Given the description of an element on the screen output the (x, y) to click on. 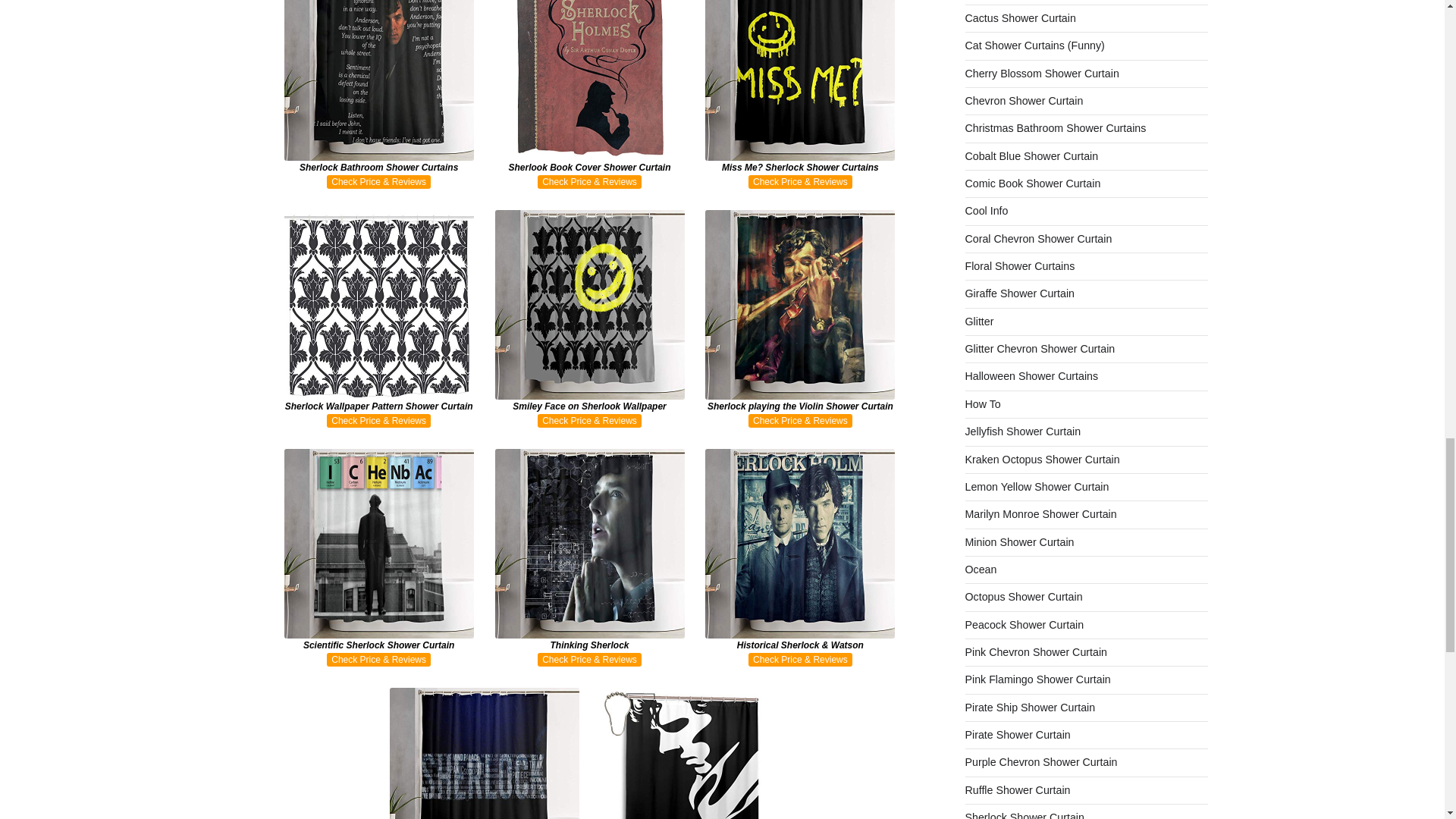
Sherlock Bathroom Shower Curtains (378, 94)
Miss Me? Sherlock Shower Curtains (799, 94)
Black Sherlock Shower Curtain (484, 753)
Sherlook Book Cover Shower Curtain (589, 94)
